Given the description of an element on the screen output the (x, y) to click on. 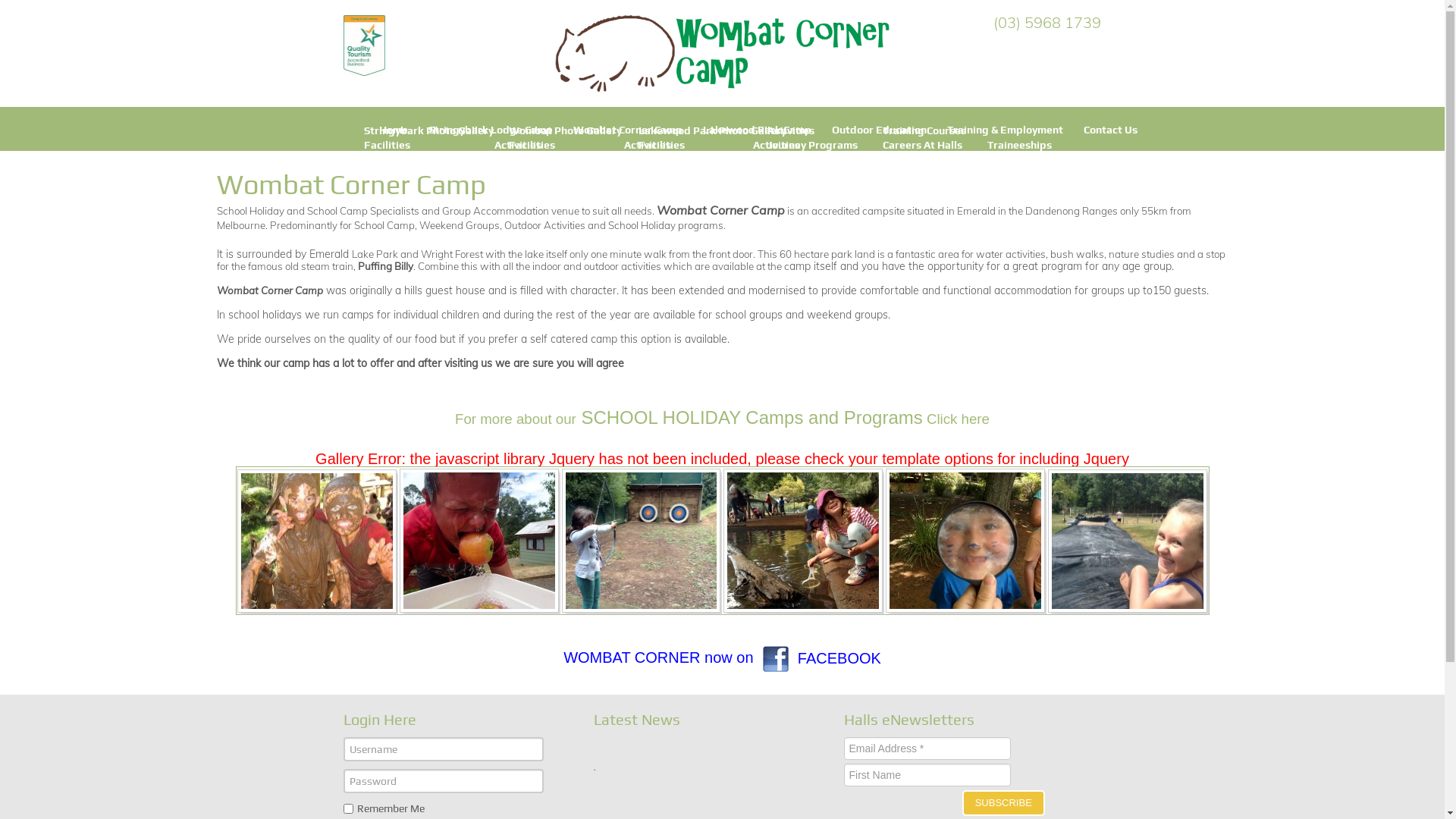
Important Information Element type: text (823, 216)
Lakewood Park Photo Gallery Element type: text (712, 129)
Catering Element type: text (385, 158)
Wombat Corner Camp Element type: text (627, 129)
Facilities Element type: text (531, 144)
WOMBAT CORNER now on    FACEBOOK Element type: text (722, 657)
Wombat Photo Gallery Element type: text (565, 129)
Traineeships Element type: text (1019, 144)
Facilities Element type: text (386, 144)
File Repository Element type: text (805, 202)
Careers At Halls Element type: text (922, 144)
First Name Element type: hover (926, 774)
Halls Photo Gallery Element type: text (814, 230)
Activities Element type: text (776, 144)
Home Element type: text (393, 129)
IMG 0198 Element type: hover (802, 540)
Request Form Element type: text (802, 187)
Catering Element type: text (660, 158)
Lakewood Park Forms Element type: text (694, 173)
Activities Element type: text (647, 144)
School Holiday Programs Element type: text (570, 173)
Training Courses Element type: text (924, 129)
Stringybark Lodge Forms Element type: text (427, 173)
Facilities Element type: text (661, 144)
Contact Us Element type: text (1110, 129)
Stringybark Photo Gallery Element type: text (428, 129)
(03) 5968 1739 Element type: text (1047, 21)
Activities Element type: text (517, 144)
Location Element type: text (649, 158)
Stringybark Lodge Camp Element type: text (490, 129)
IMG 0211 1 Element type: hover (964, 540)
Training & Employment Element type: text (1005, 129)
Outdoor Education Element type: text (878, 129)
wombat mudslide Element type: hover (316, 540)
Camp Programs Element type: text (807, 158)
Nepal Experience Element type: text (812, 245)
Location Element type: text (778, 158)
Wombat Corner Forms Element type: text (565, 187)
IMG 6008 Element type: hover (1127, 540)
Email Address * Element type: hover (926, 748)
Catering Element type: text (530, 158)
wombat archery Element type: hover (641, 540)
wombatapplebob Element type: hover (478, 540)
Lakewood Park Camp Element type: text (756, 129)
Day Programs Element type: text (802, 173)
Activities Element type: text (790, 129)
Location Element type: text (519, 158)
Journey Programs Element type: text (812, 144)
